Given the description of an element on the screen output the (x, y) to click on. 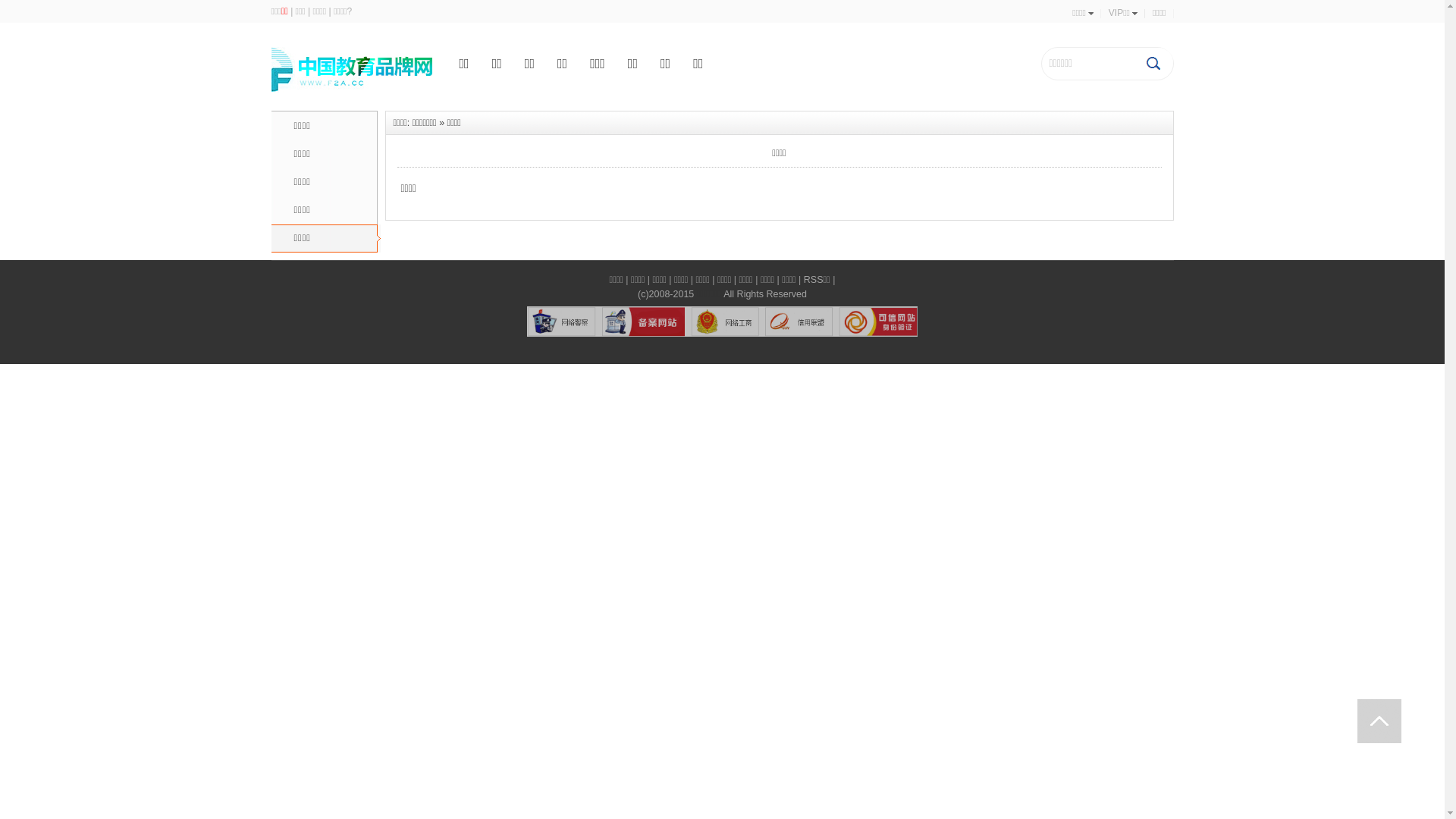
  Element type: text (1379, 721)
